Given the description of an element on the screen output the (x, y) to click on. 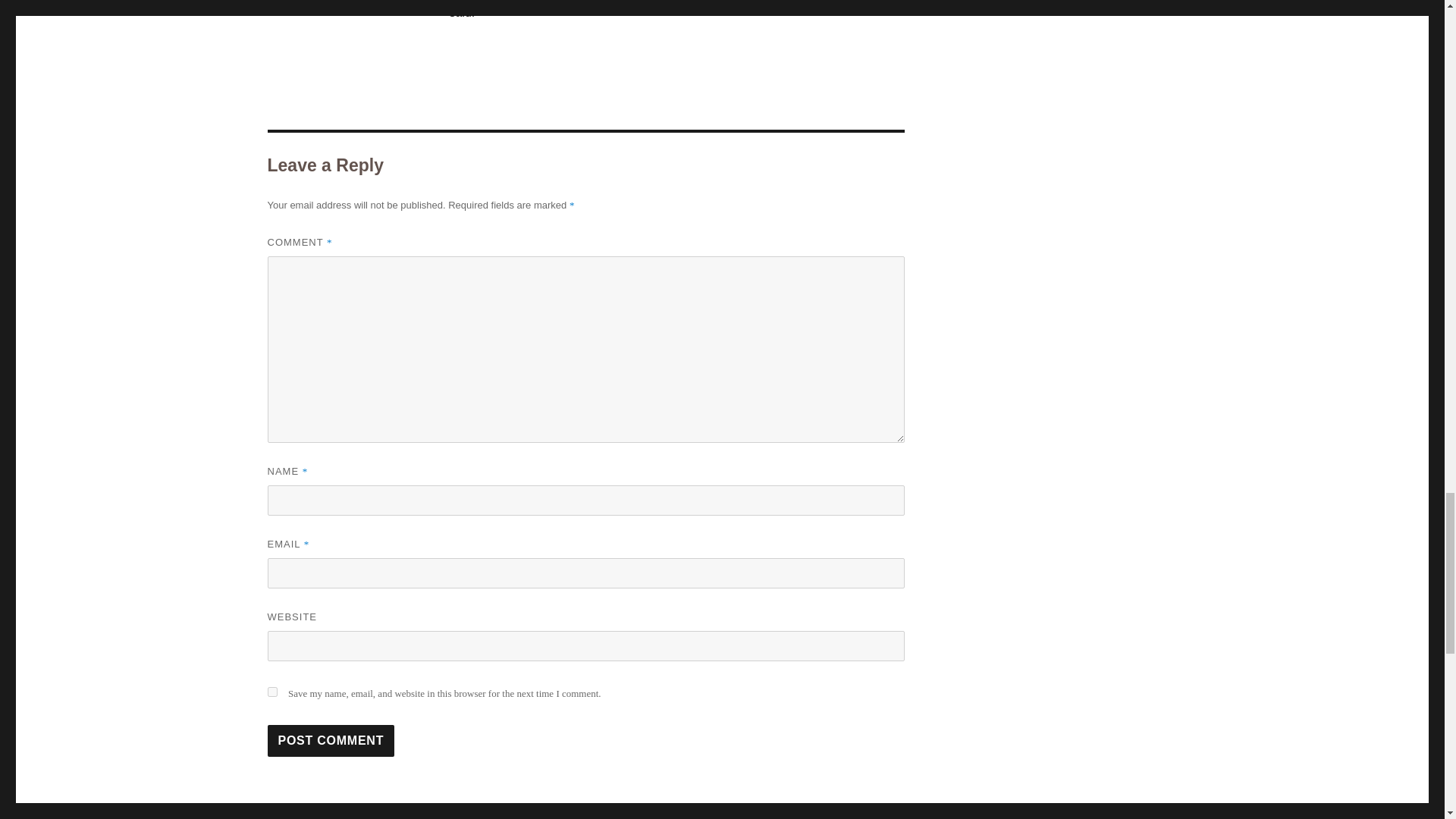
yes (271, 691)
Post Comment (330, 740)
Post Comment (330, 740)
